Given the description of an element on the screen output the (x, y) to click on. 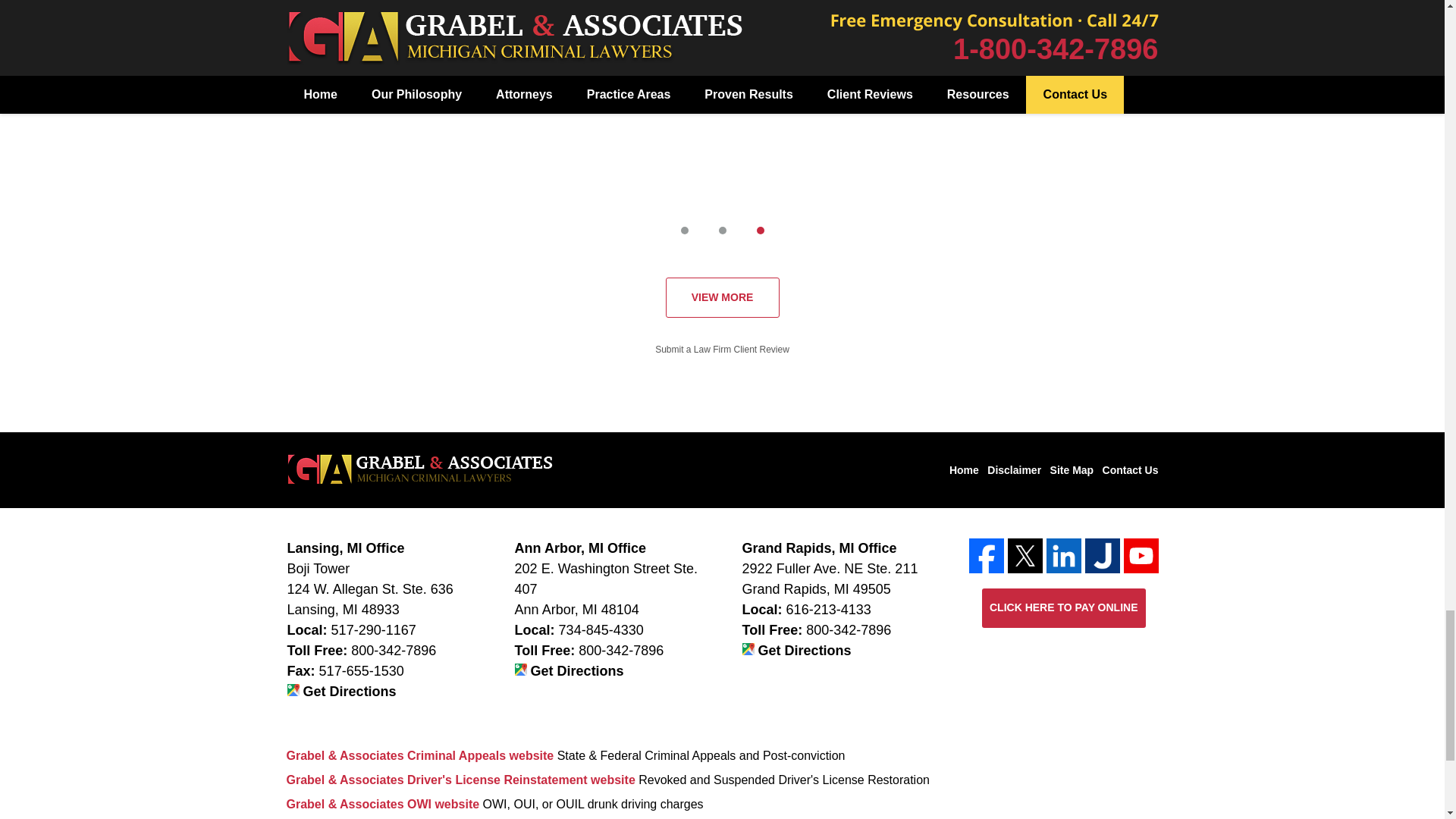
YouTube (1141, 555)
LinkedIn (1063, 555)
Facebook (986, 555)
Twitter (1024, 555)
Justia (1101, 555)
